Given the description of an element on the screen output the (x, y) to click on. 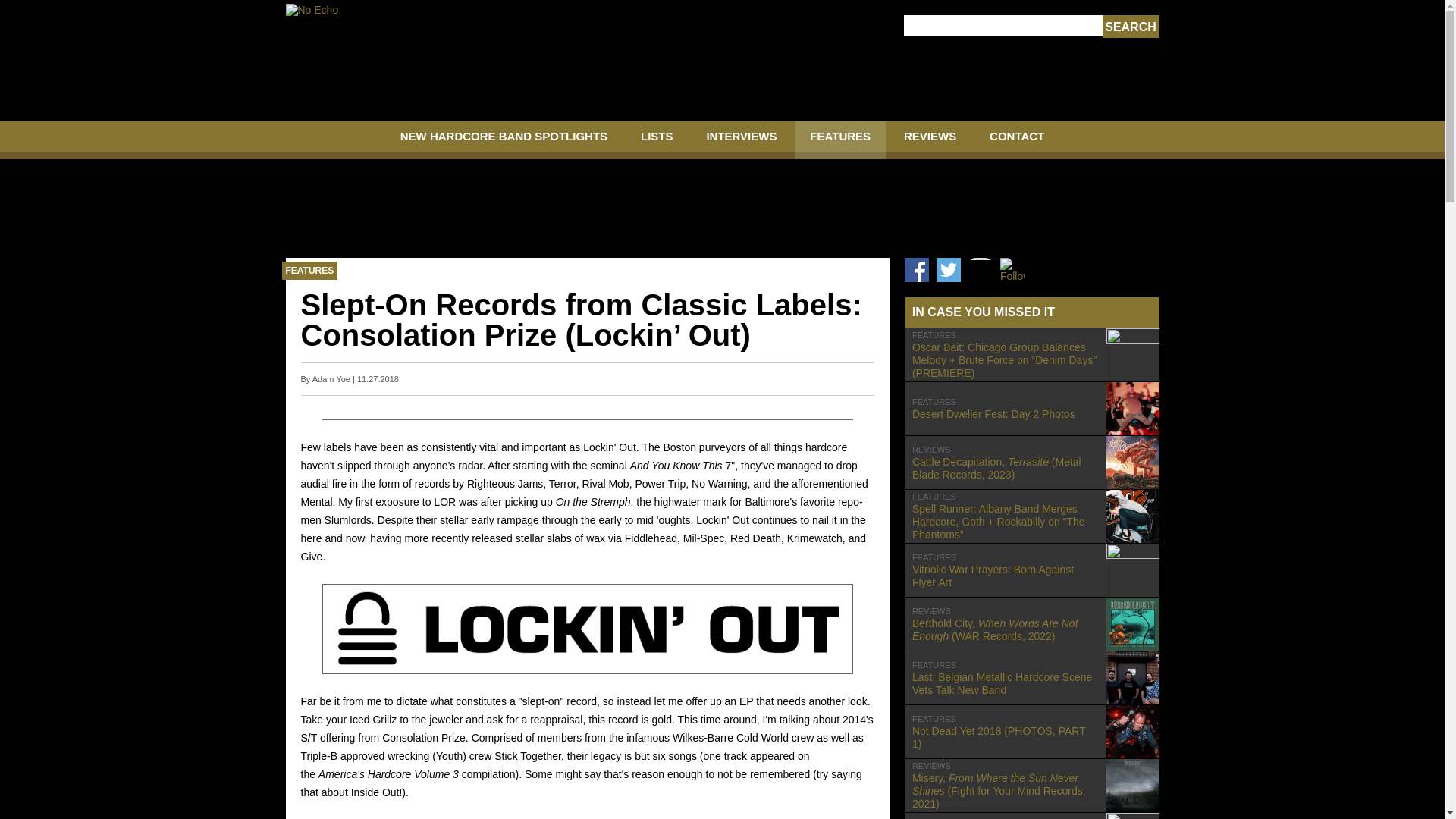
INTERVIEWS (741, 139)
Search (1031, 570)
FEATURES (1130, 26)
Search (1031, 408)
LISTS (839, 139)
REVIEWS (1130, 26)
CONTACT (657, 139)
